Given the description of an element on the screen output the (x, y) to click on. 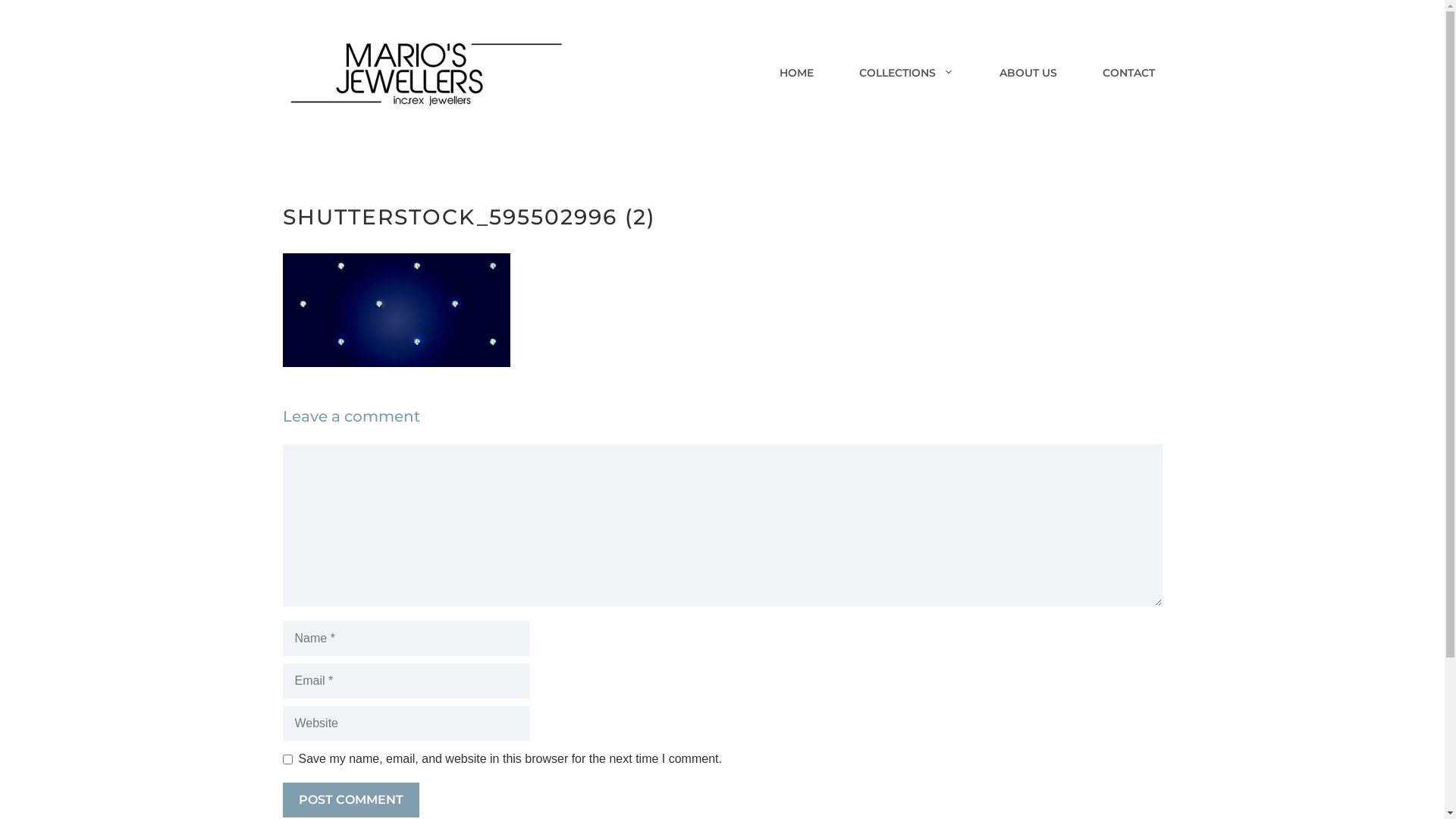
CONTACT Element type: text (1128, 72)
HOME Element type: text (796, 72)
Post Comment Element type: text (350, 799)
COLLECTIONS Element type: text (905, 72)
ABOUT US Element type: text (1027, 72)
